Given the description of an element on the screen output the (x, y) to click on. 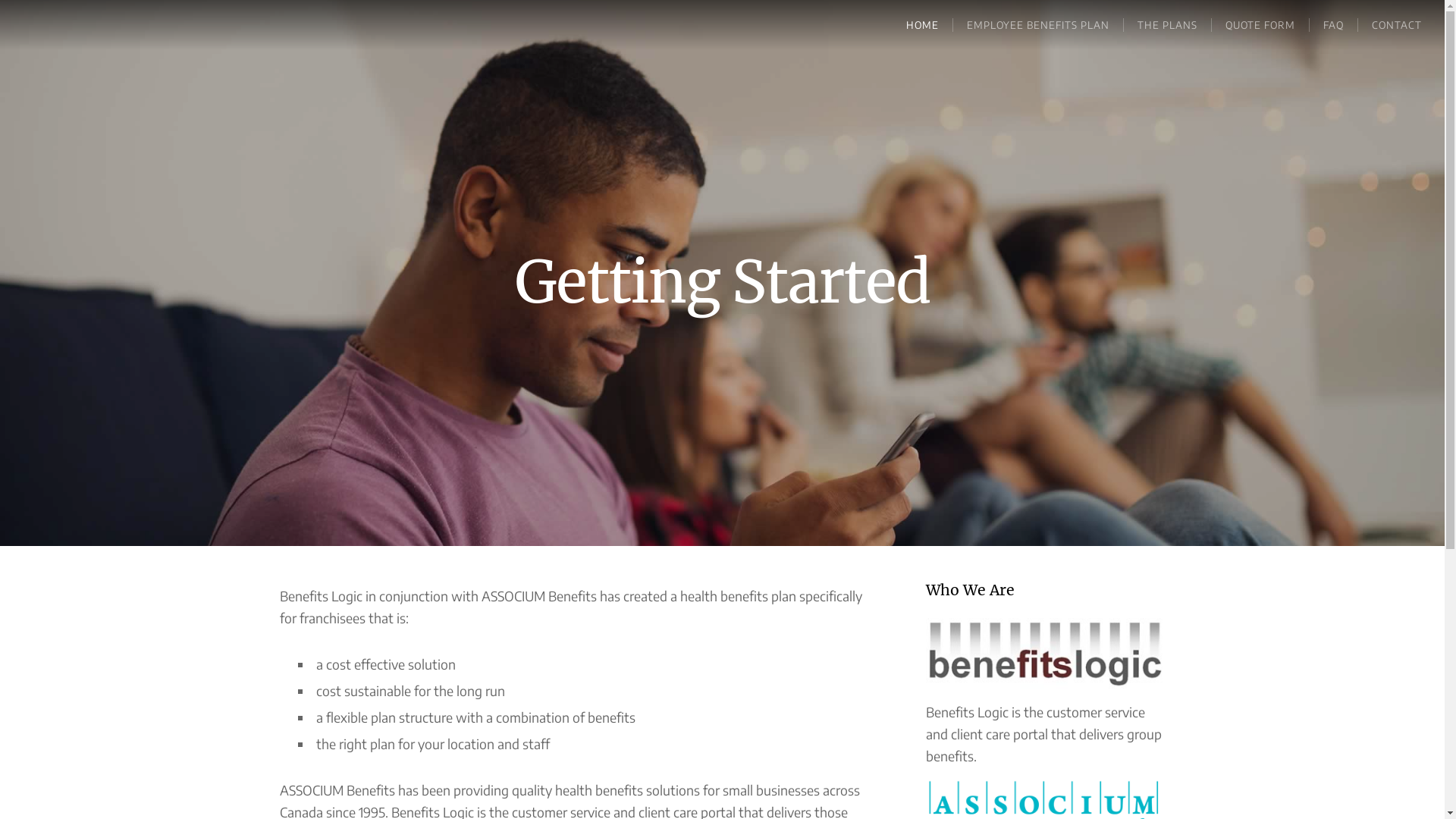
HOME Element type: text (922, 24)
QUOTE FORM Element type: text (1259, 24)
FAQ Element type: text (1332, 24)
THE PLANS Element type: text (1167, 24)
CONTACT Element type: text (1396, 24)
EMPLOYEE BENEFITS PLAN Element type: text (1037, 24)
